Given the description of an element on the screen output the (x, y) to click on. 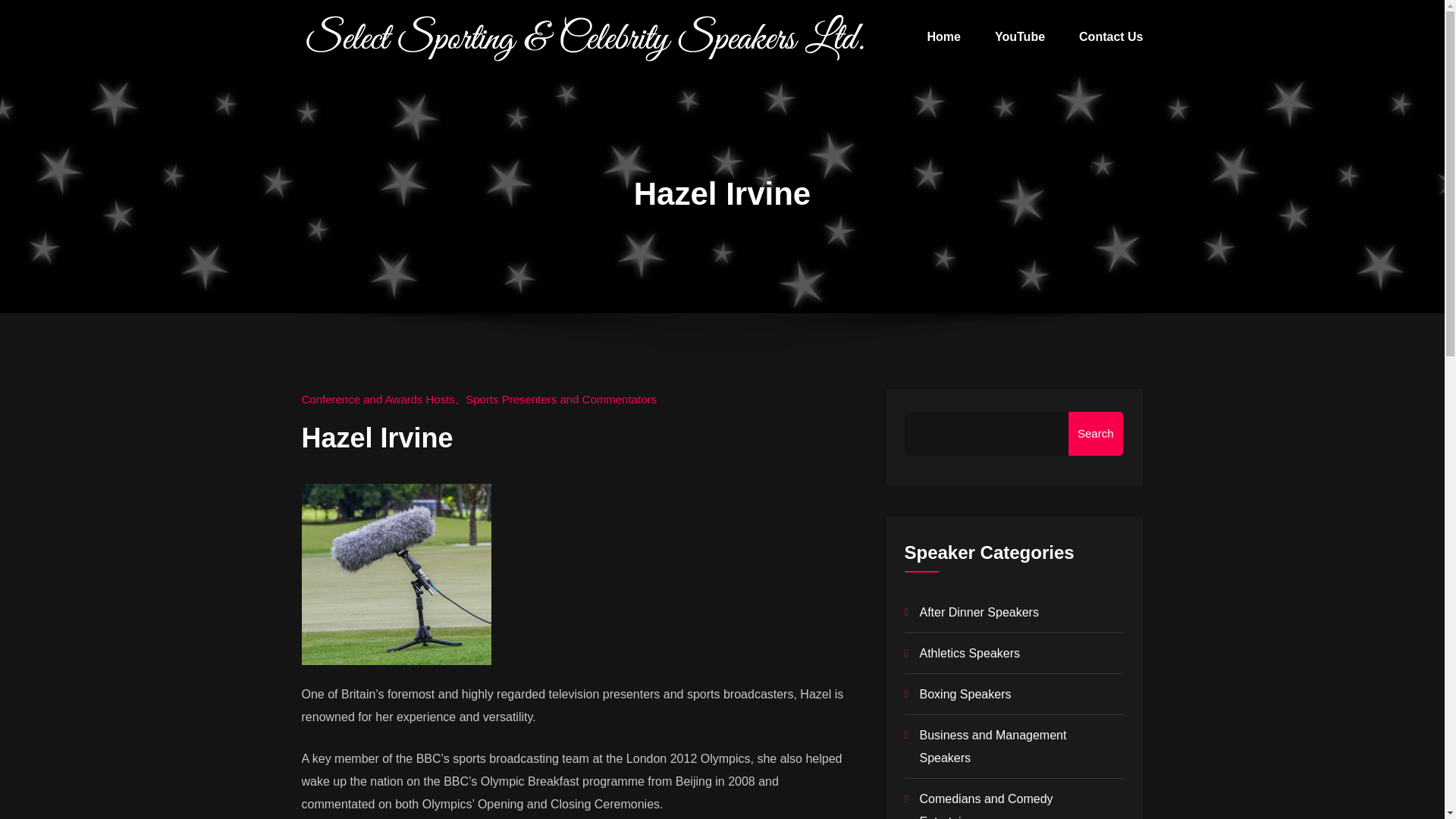
Boxing Speakers (964, 694)
Contact Us (1110, 37)
After Dinner Speakers (978, 612)
Conference and Awards Hosts (382, 399)
Comedians and Comedy Entertainers (985, 805)
Search (1095, 433)
YouTube (1019, 37)
Home (943, 37)
Business and Management Speakers (991, 746)
Speakers4u.co.uk (978, 51)
